Given the description of an element on the screen output the (x, y) to click on. 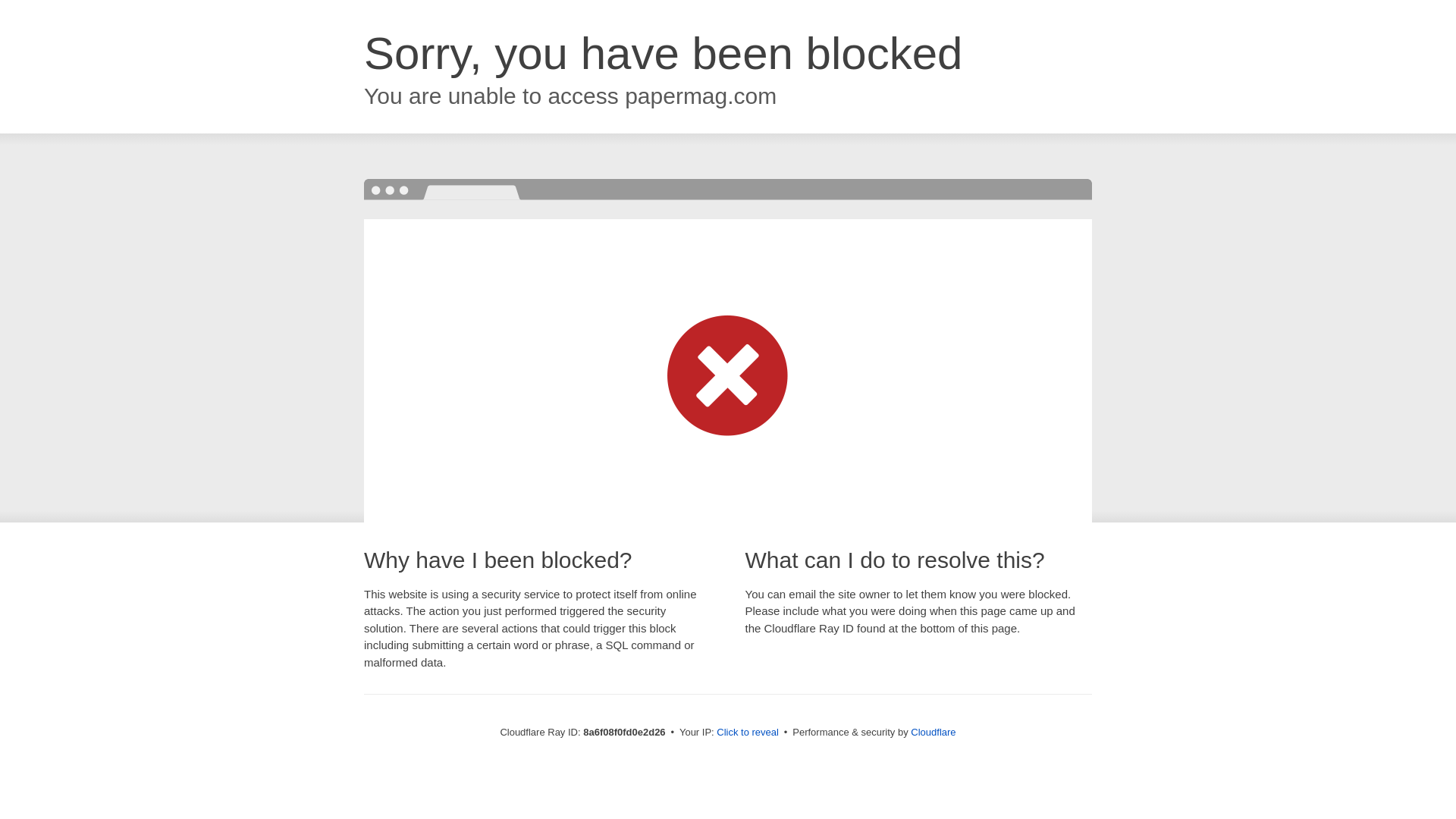
Cloudflare (933, 731)
Click to reveal (747, 732)
